Given the description of an element on the screen output the (x, y) to click on. 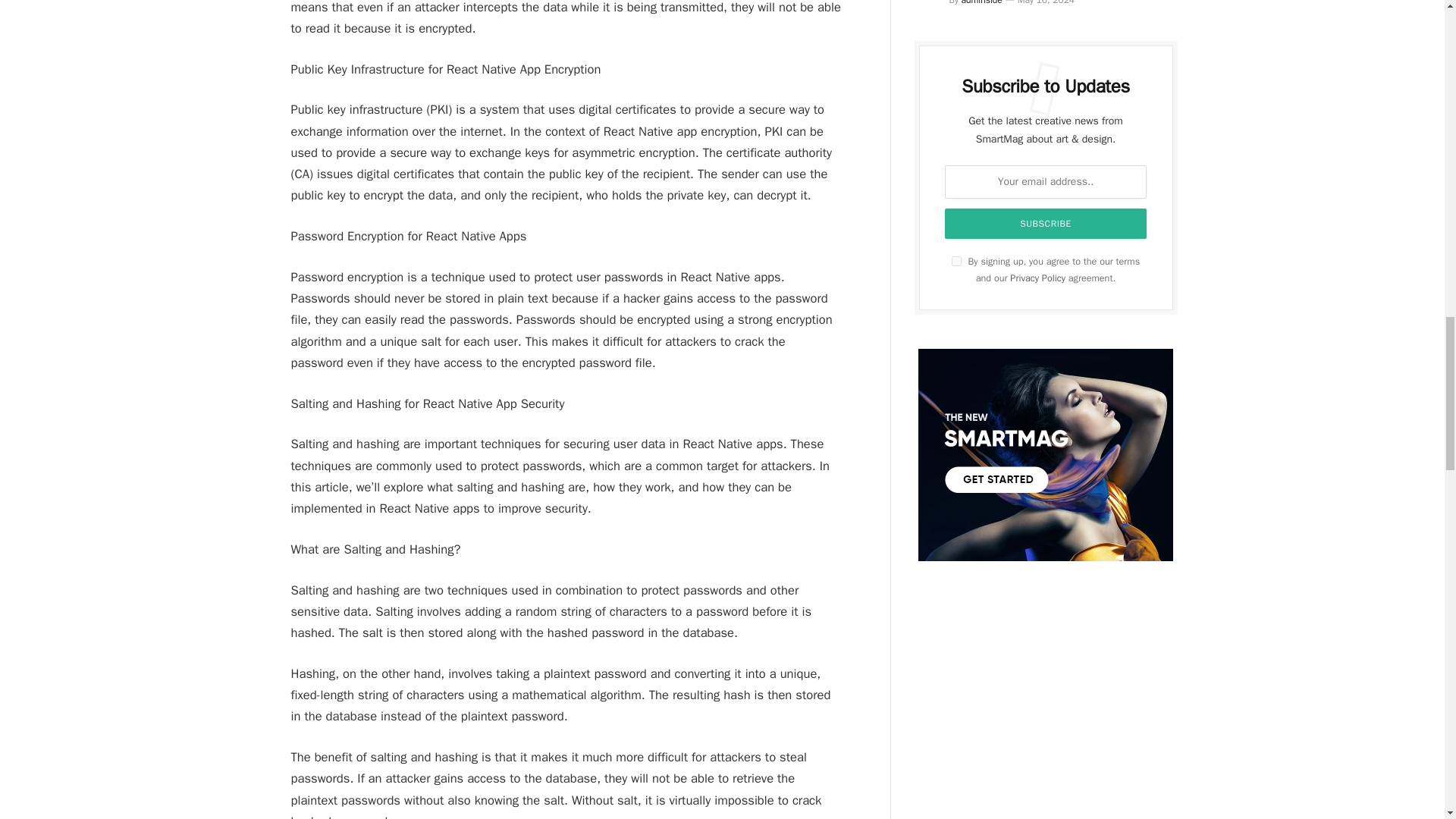
on (956, 261)
Subscribe (1045, 223)
